Given the description of an element on the screen output the (x, y) to click on. 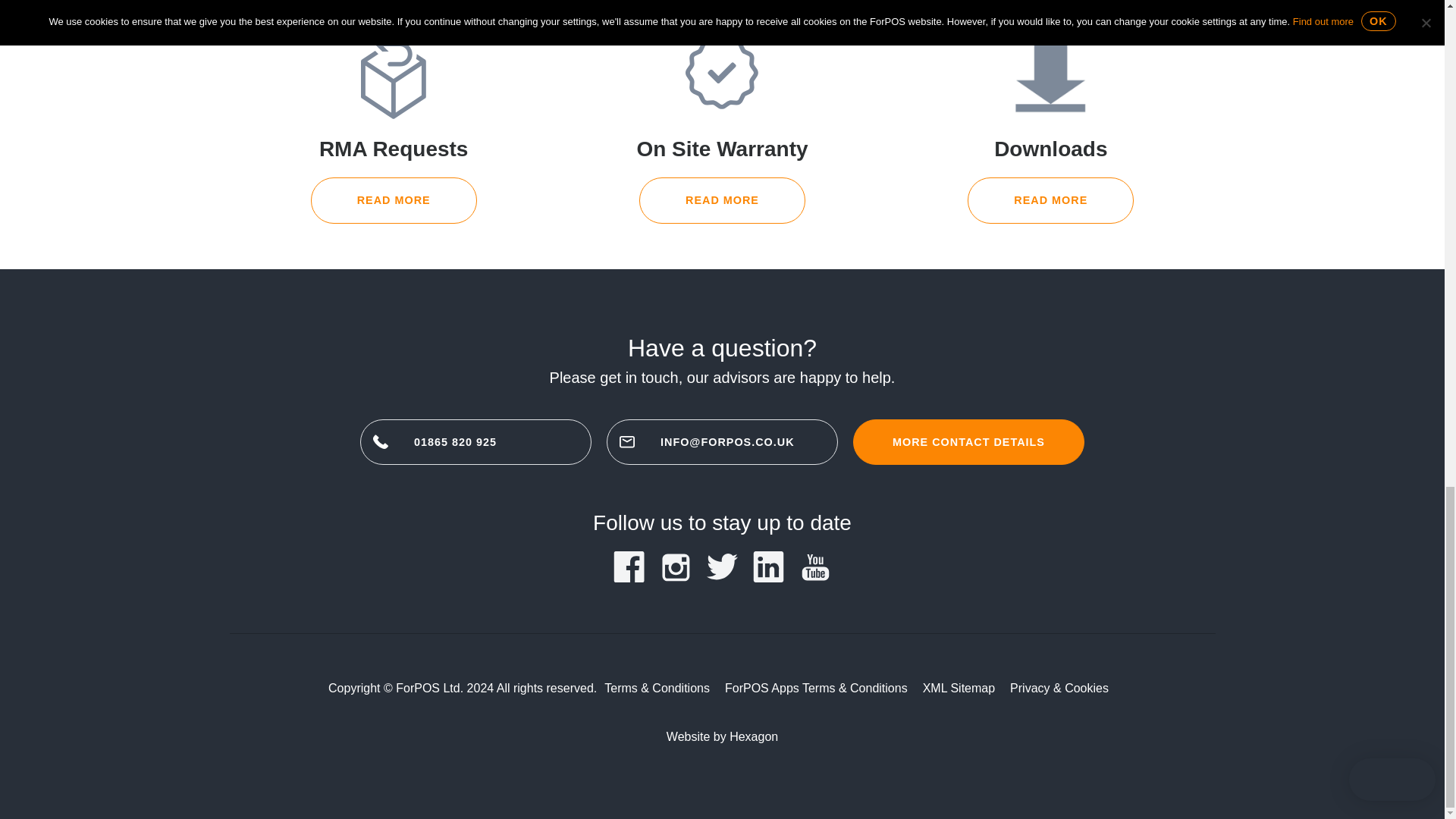
Web Design Oxford (753, 736)
